Given the description of an element on the screen output the (x, y) to click on. 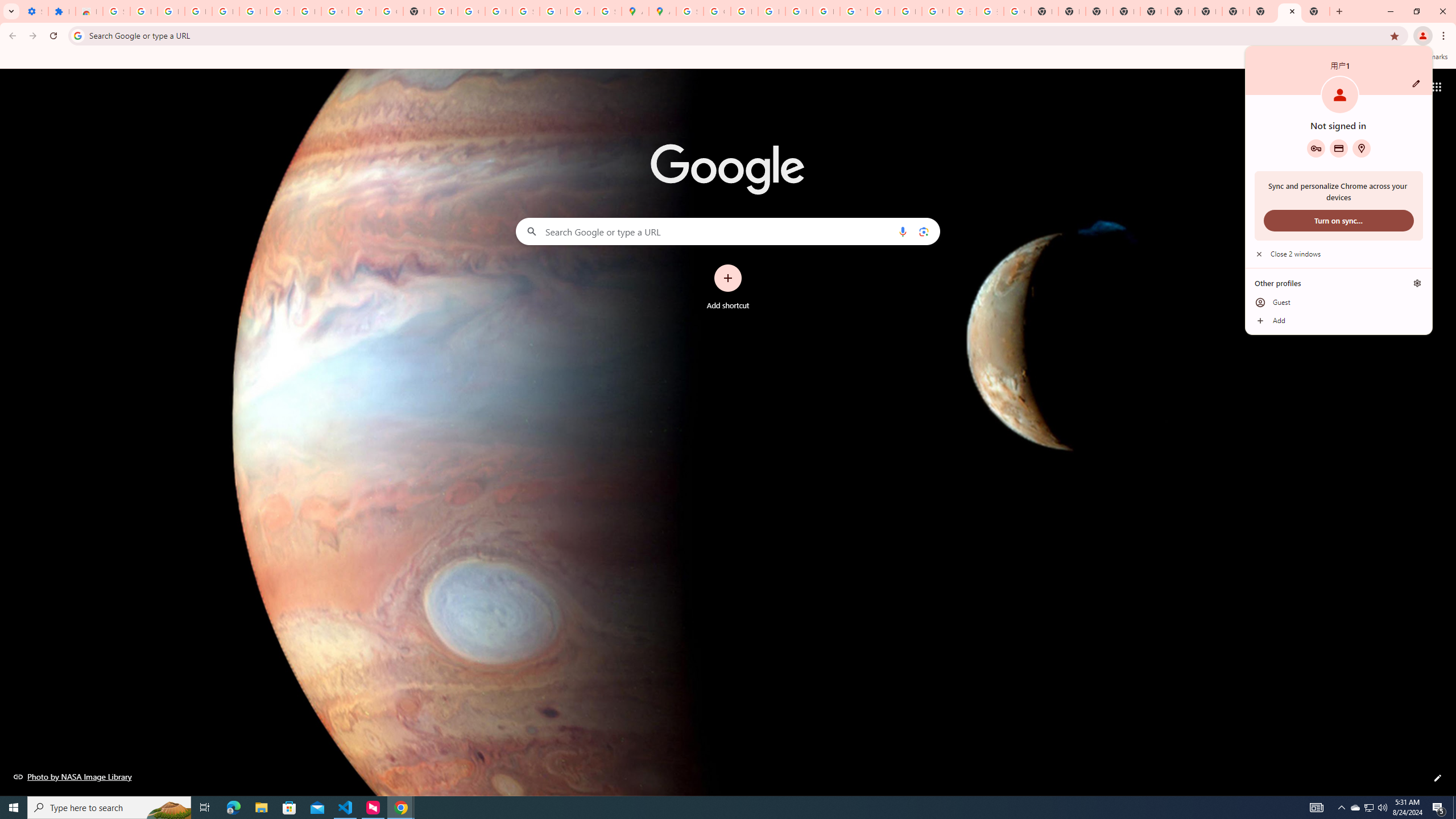
AutomationID: 4105 (1316, 807)
Search Google or type a URL (727, 230)
Delete photos & videos - Computer - Google Photos Help (197, 11)
Restore (1416, 11)
New Tab (1126, 11)
Minimize (1390, 11)
Sign in - Google Accounts (280, 11)
Notification Chevron (1341, 807)
System (1355, 807)
Reviews: Helix Fruit Jump Arcade Game (6, 6)
Google Account (88, 11)
Learn how to find your photos - Google Photos Help (334, 11)
